Given the description of an element on the screen output the (x, y) to click on. 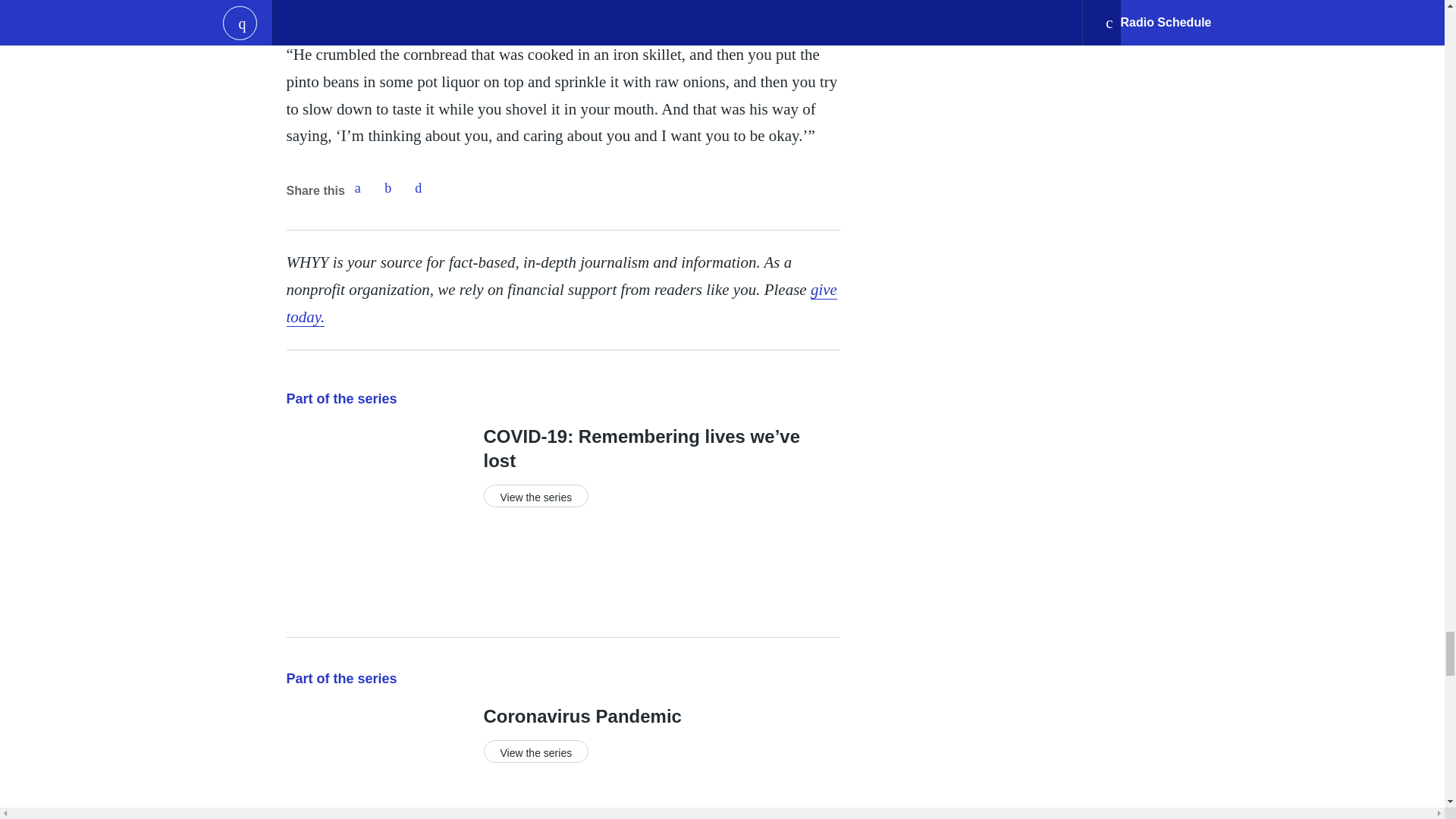
Facebook (357, 187)
Twitter (387, 187)
Email (418, 187)
